Given the description of an element on the screen output the (x, y) to click on. 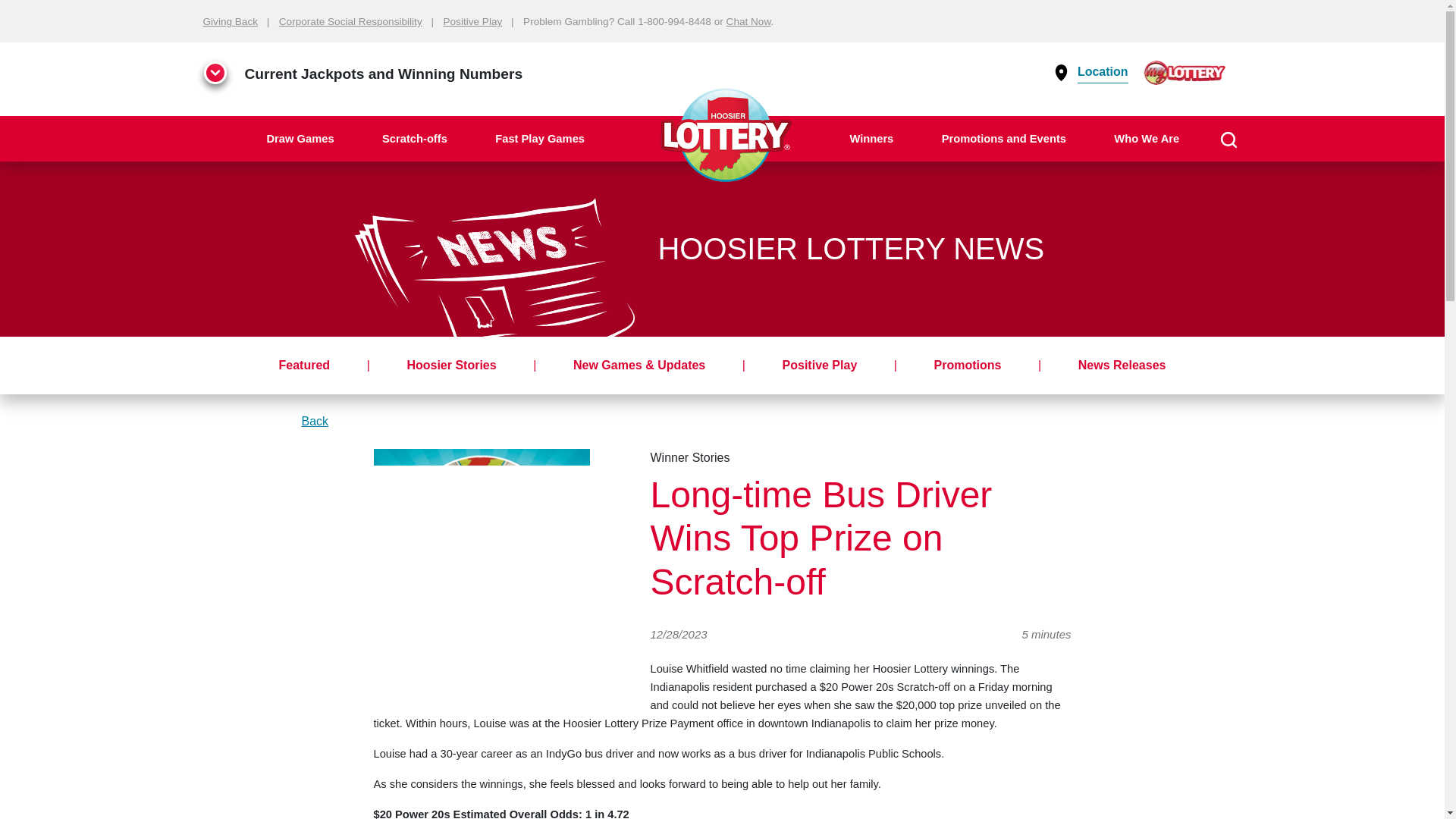
Scratch-offs (414, 138)
Who We Are (1147, 138)
Fast Play Games (540, 138)
Go (1417, 188)
Chat Now (748, 21)
Draw Games (300, 138)
Giving Back (231, 21)
Winners (871, 138)
Corporate Social Responsibility (350, 21)
Positive Play (472, 21)
Location (1099, 71)
Promotions and Events (1002, 138)
myLottery (1183, 71)
